Given the description of an element on the screen output the (x, y) to click on. 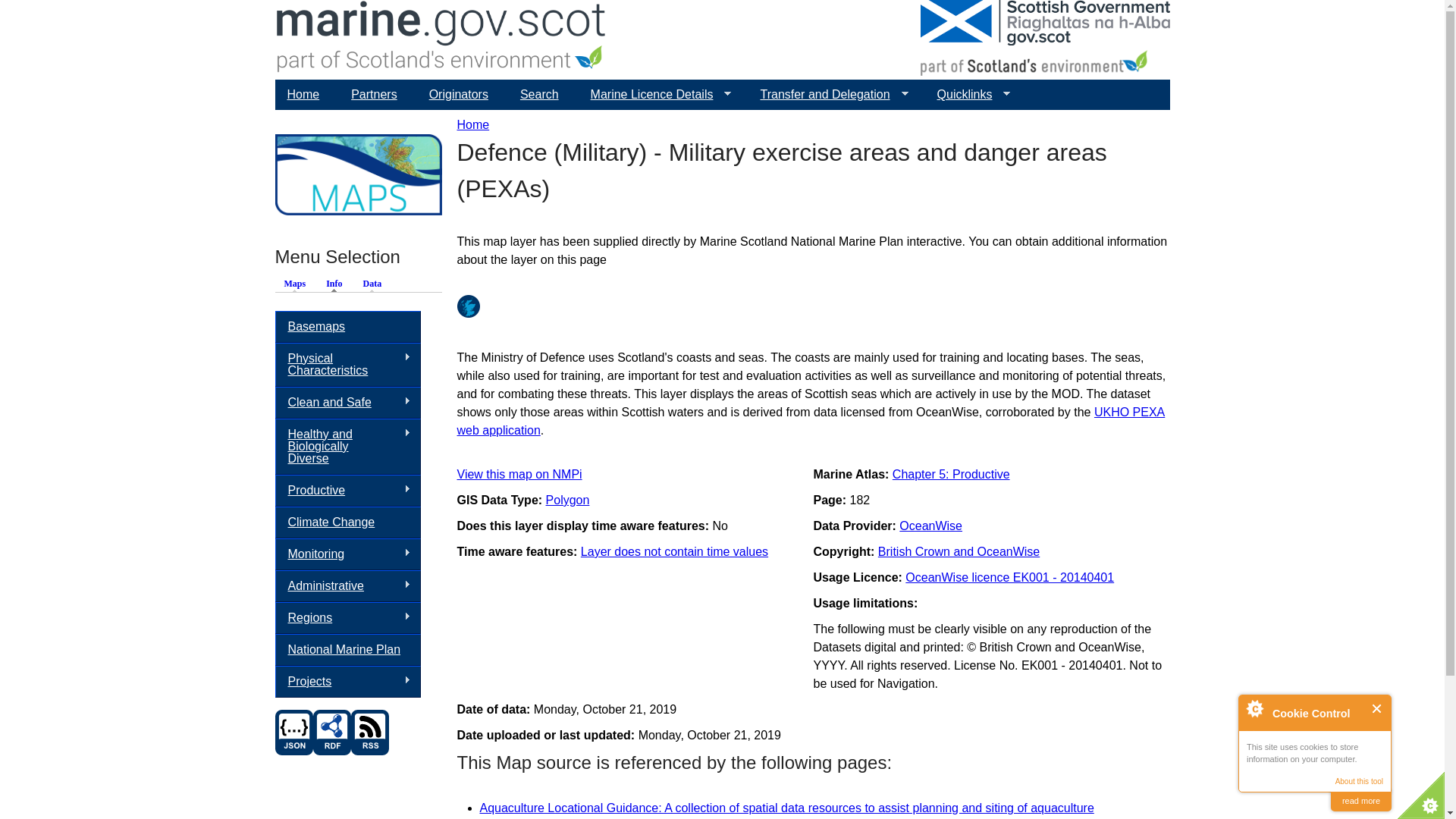
Close (1377, 708)
Home (303, 94)
About Cookie Control (1254, 708)
British Crown and OceanWise (958, 551)
About Cookie Control (1254, 708)
Partners (374, 94)
Home (441, 39)
Polygon (567, 499)
read more (1360, 801)
Chapter 5: Productive (951, 473)
About this tool (1359, 781)
Clean and Safe (347, 402)
Organisations that have contributed maps and data. (458, 94)
Layer does not contain time values (674, 551)
